Given the description of an element on the screen output the (x, y) to click on. 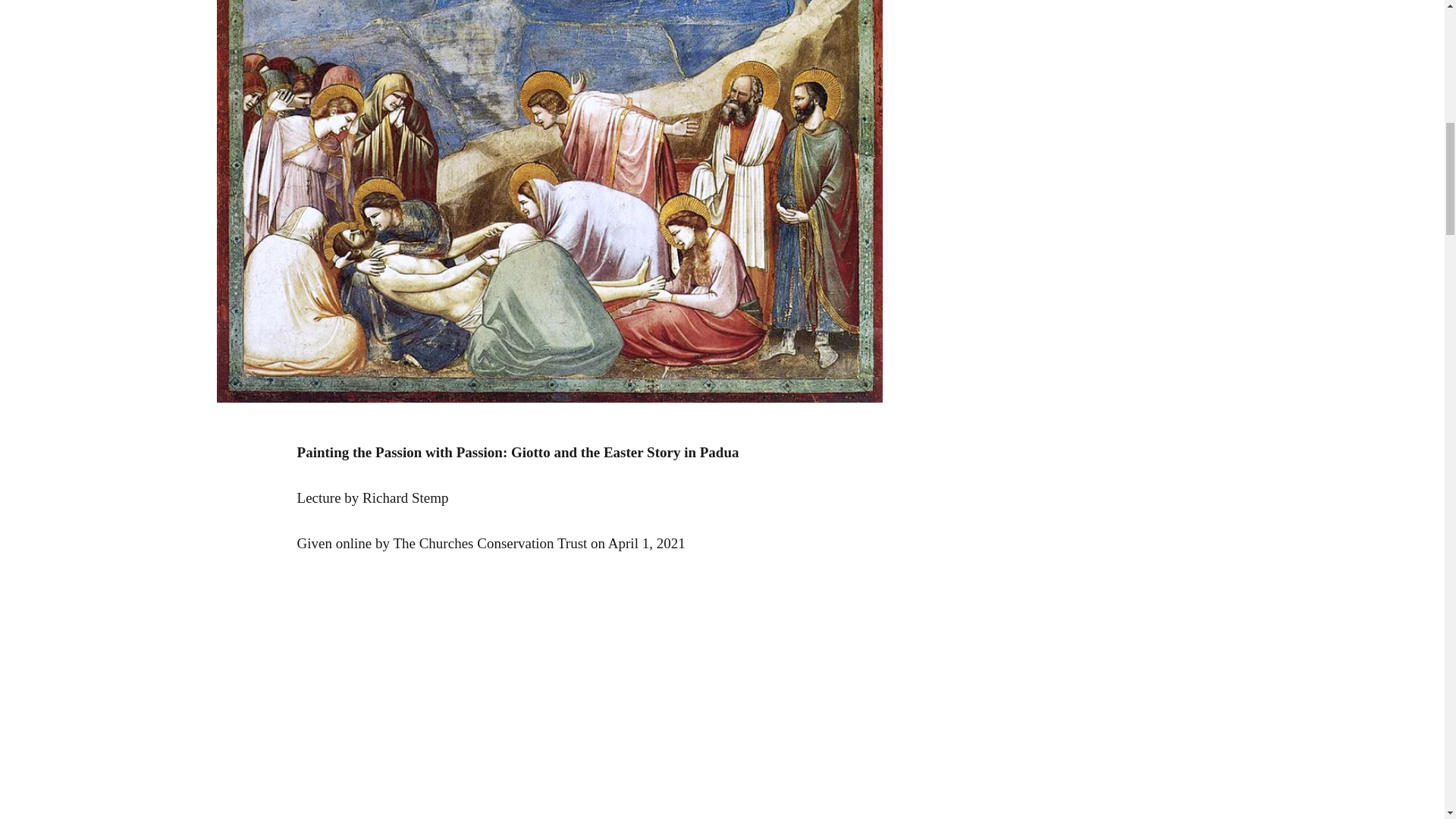
YouTube video player (509, 697)
